Given the description of an element on the screen output the (x, y) to click on. 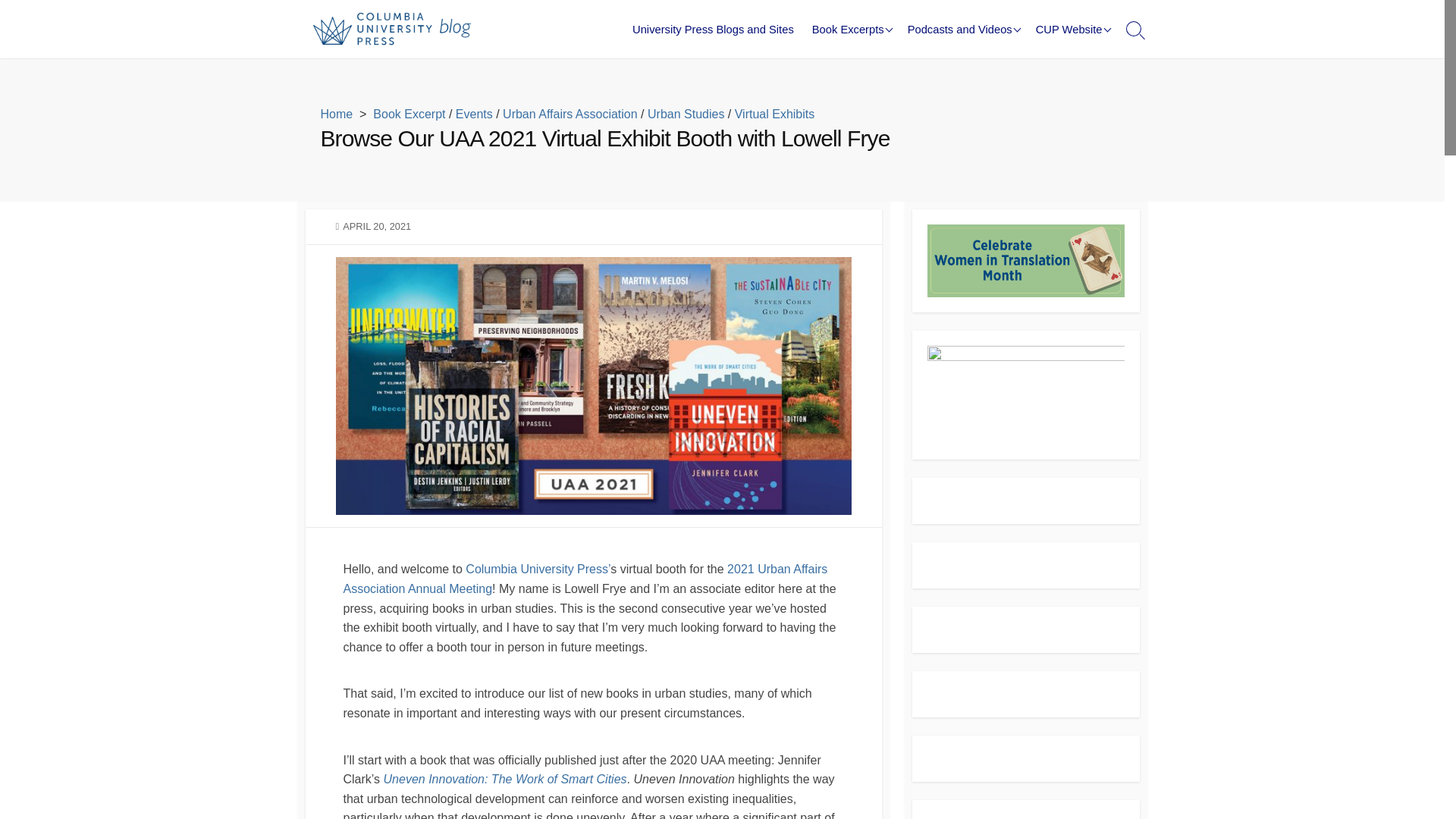
Urban Affairs Association (569, 113)
2021 Urban Affairs Association Annual Meeting (584, 578)
Columbia University Press Blog (399, 28)
Excerpts by Subject (879, 26)
Contact Us (1101, 96)
Book Talks and Recorded Events (973, 88)
University Press Blogs and Sites (713, 29)
Virtual Exhibits (775, 113)
Urban Studies (685, 113)
Podcasts and Videos (962, 29)
